Given the description of an element on the screen output the (x, y) to click on. 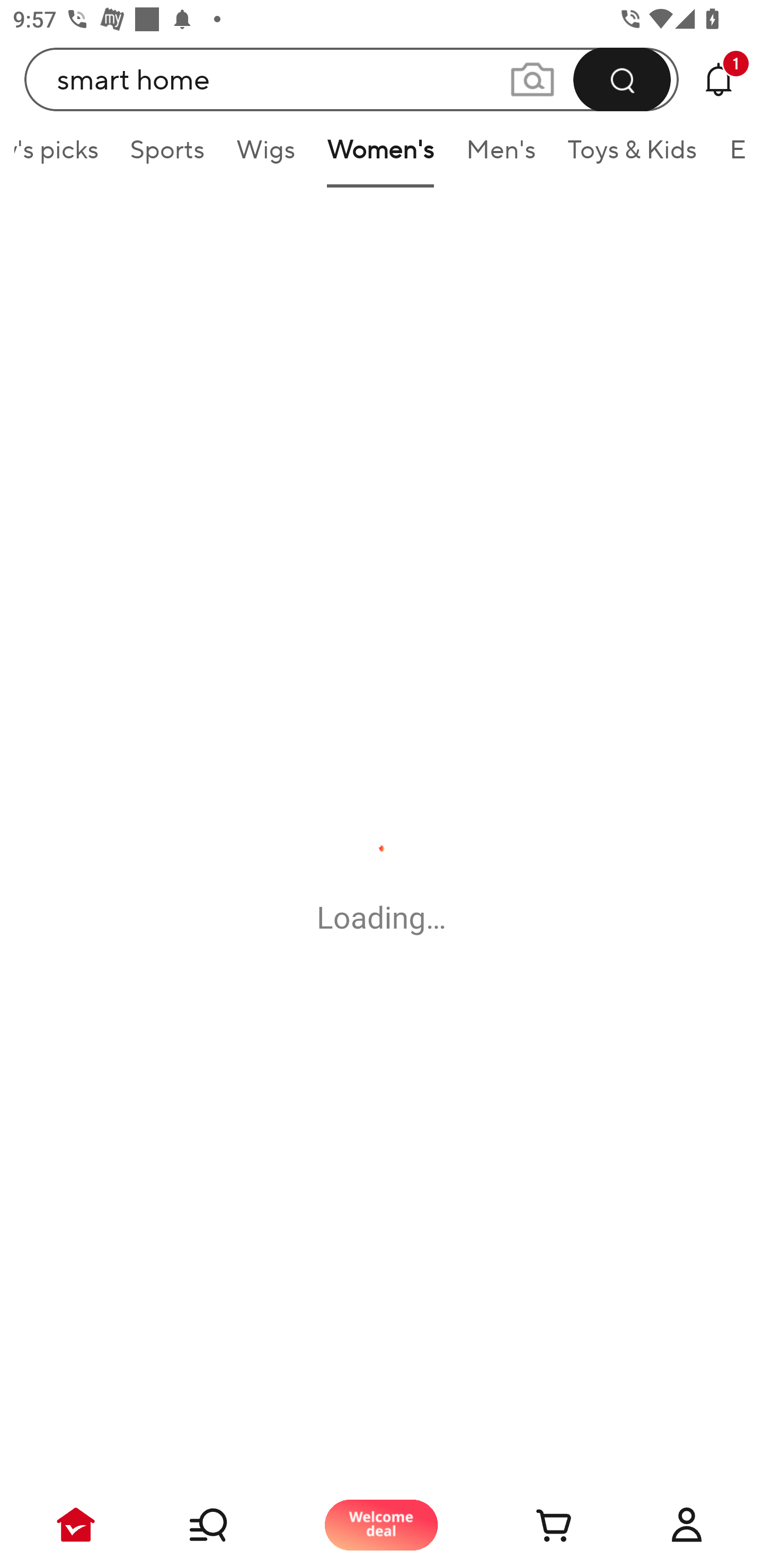
smart home (351, 79)
Paddy's picks (63, 155)
Sports (166, 155)
Wigs (265, 155)
Men's (500, 155)
Toys & Kids (632, 155)
Shop (228, 1524)
Cart (533, 1524)
Account (686, 1524)
